Given the description of an element on the screen output the (x, y) to click on. 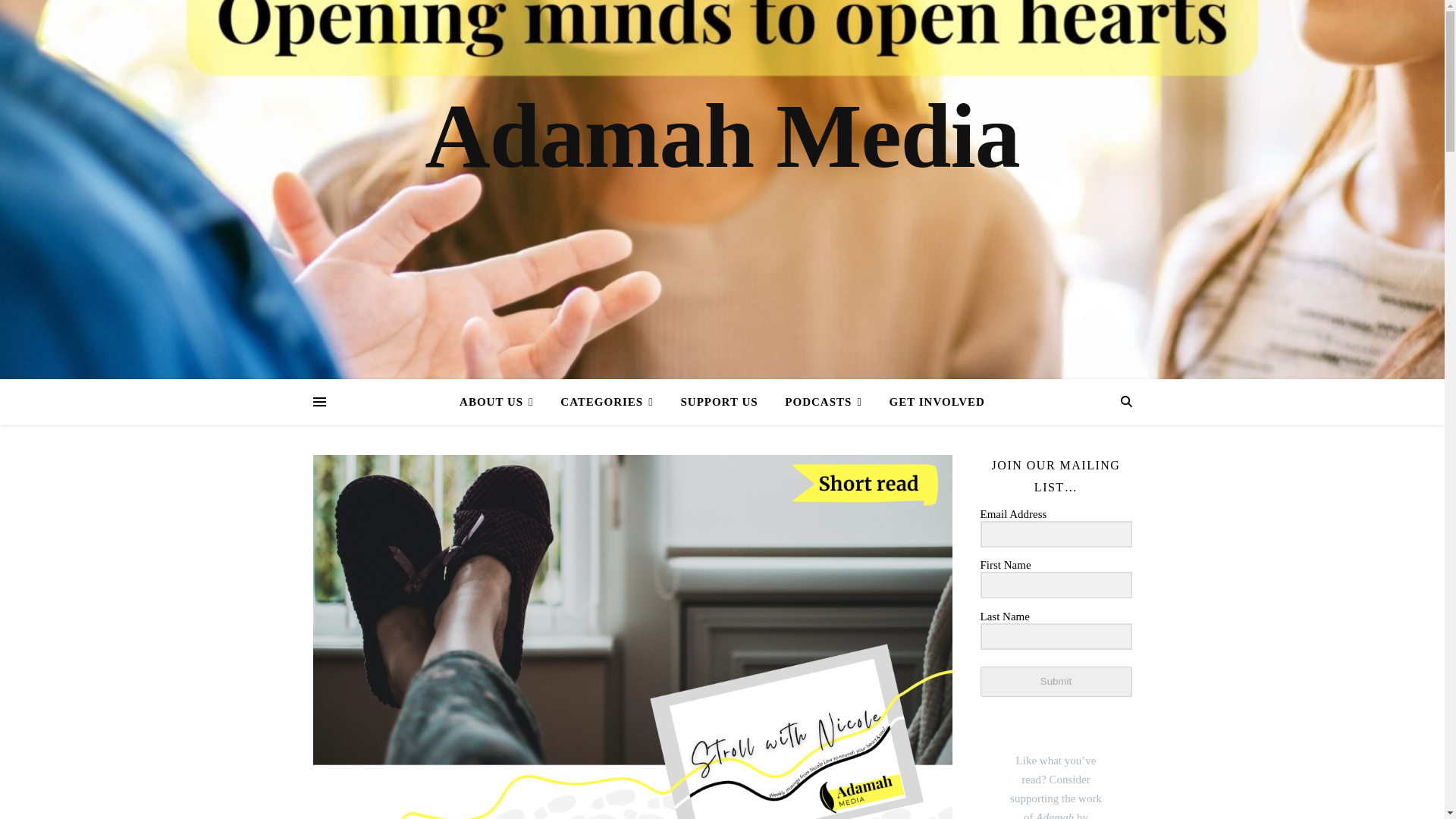
ABOUT US (502, 402)
CATEGORIES (606, 402)
GET INVOLVED (931, 402)
Adamah Media (722, 135)
PODCASTS (824, 402)
SUPPORT US (719, 402)
